Given the description of an element on the screen output the (x, y) to click on. 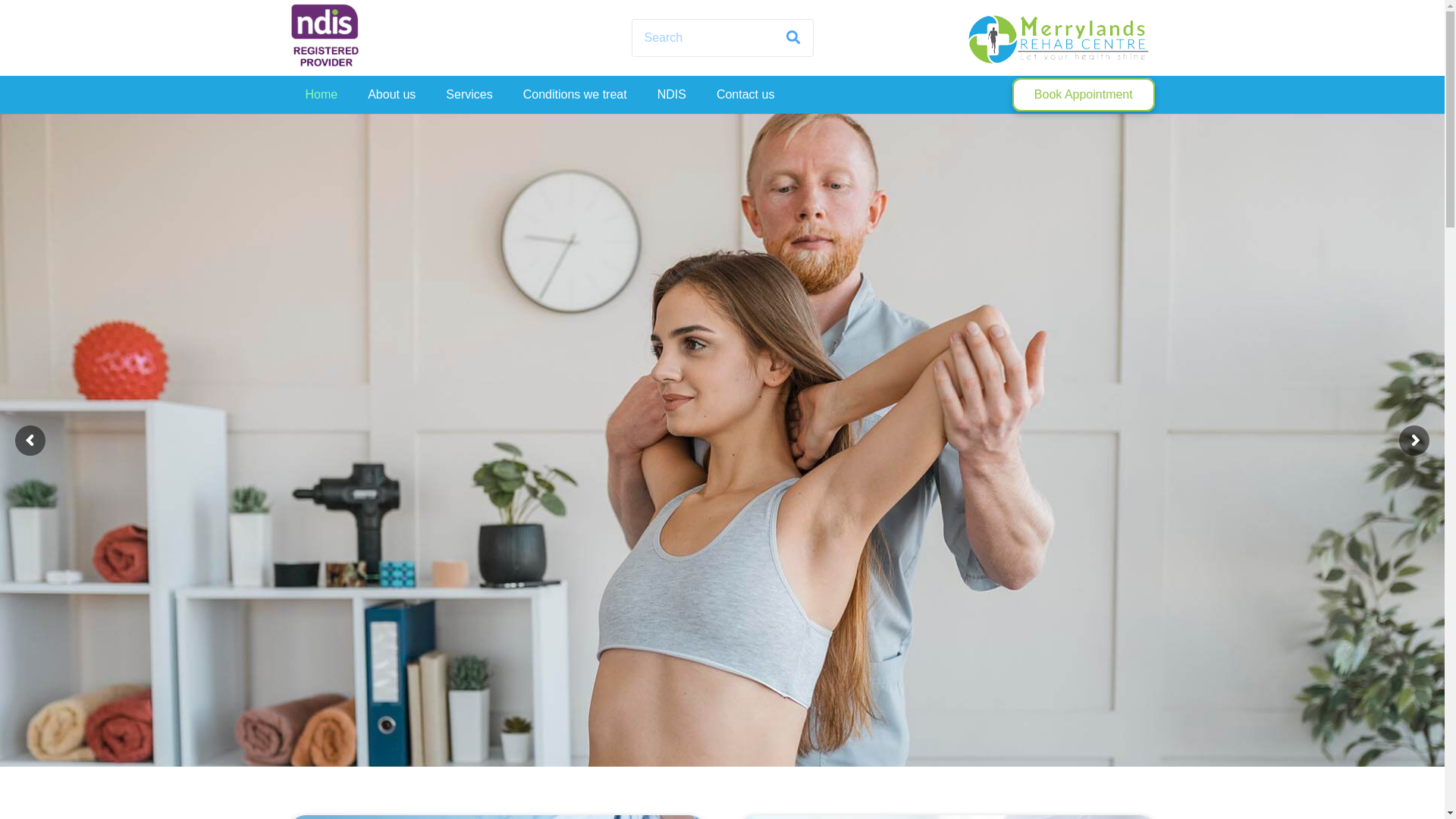
Book Appointment Element type: text (1083, 95)
Contact us Element type: text (745, 94)
Home Element type: text (320, 94)
Services Element type: text (468, 94)
About us Element type: text (391, 94)
Conditions we treat Element type: text (575, 94)
NDIS Element type: text (671, 94)
